Given the description of an element on the screen output the (x, y) to click on. 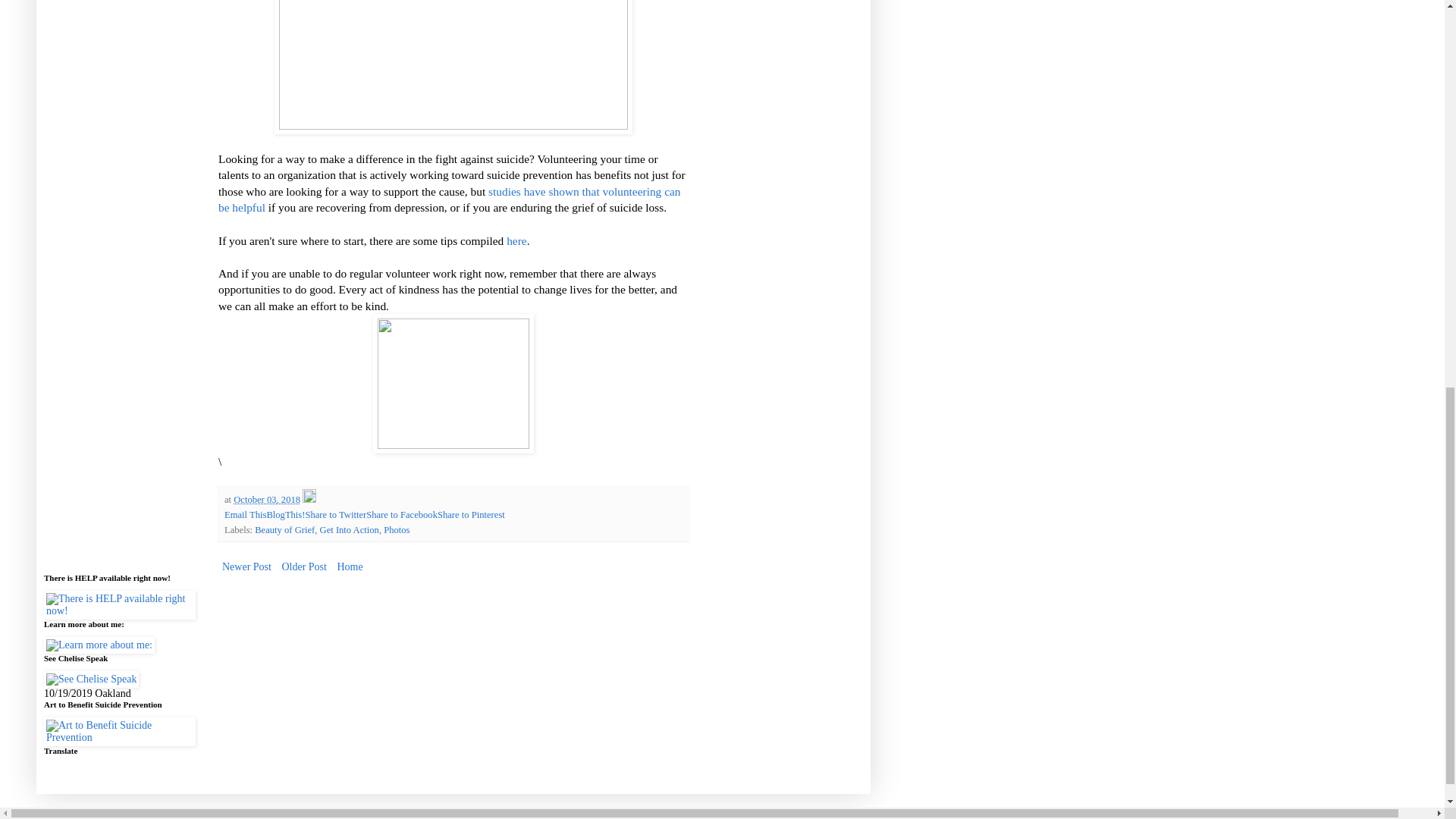
Older Post (304, 566)
Share to Pinterest (471, 514)
Home (349, 566)
Share to Facebook (402, 514)
Newer Post (246, 566)
October 03, 2018 (265, 499)
Beauty of Grief (284, 529)
Email This (245, 514)
BlogThis! (285, 514)
here (515, 240)
